Given the description of an element on the screen output the (x, y) to click on. 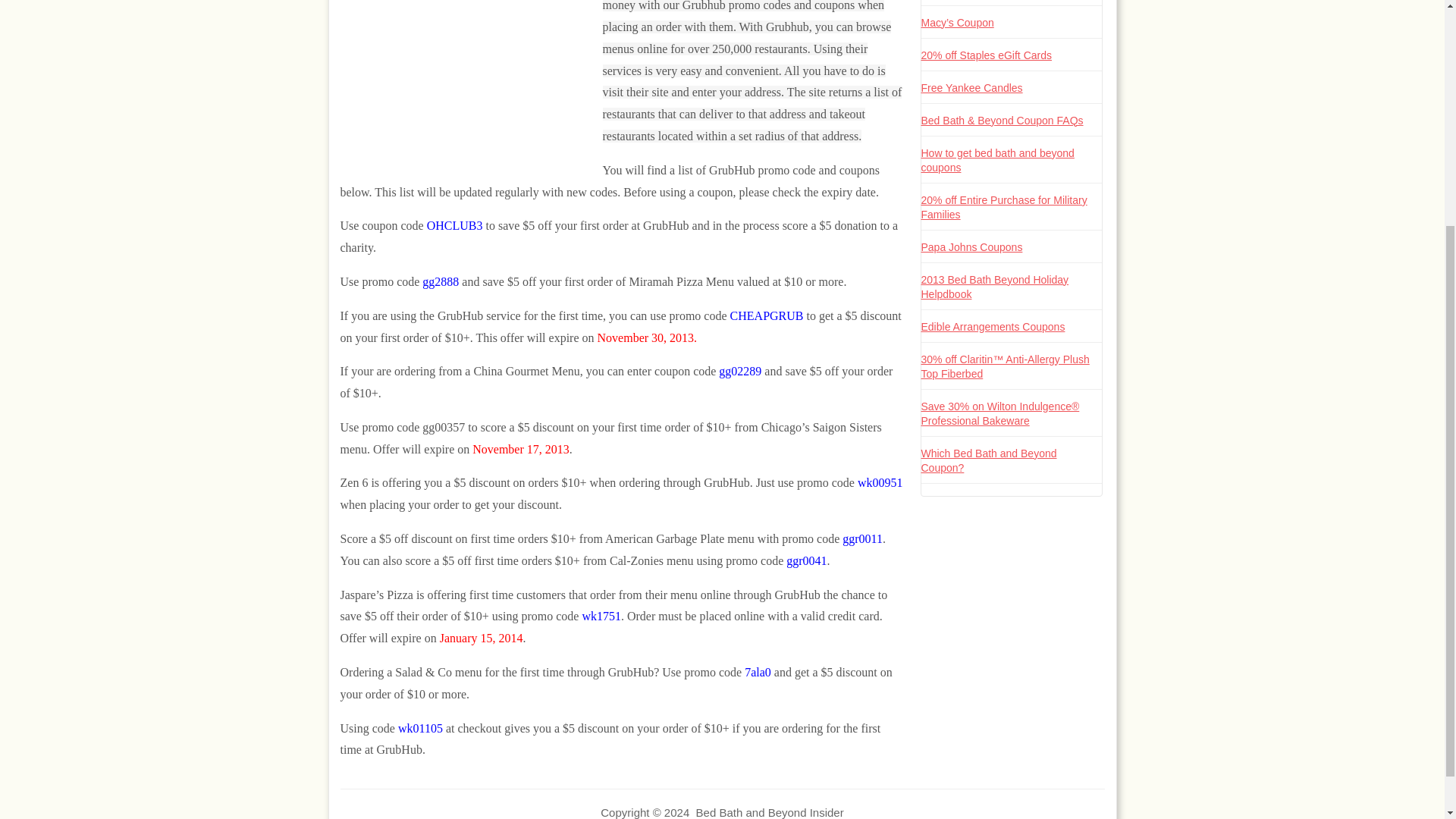
Edible Arrangements Coupons (992, 326)
2013 Bed Bath Beyond Holiday Helpdbook (994, 286)
How to get bed bath and beyond coupons (997, 159)
Free Yankee Candles (971, 87)
Papa Johns Coupons (971, 246)
Which Bed Bath and Beyond Coupon? (988, 459)
Advertisement (470, 83)
